Given the description of an element on the screen output the (x, y) to click on. 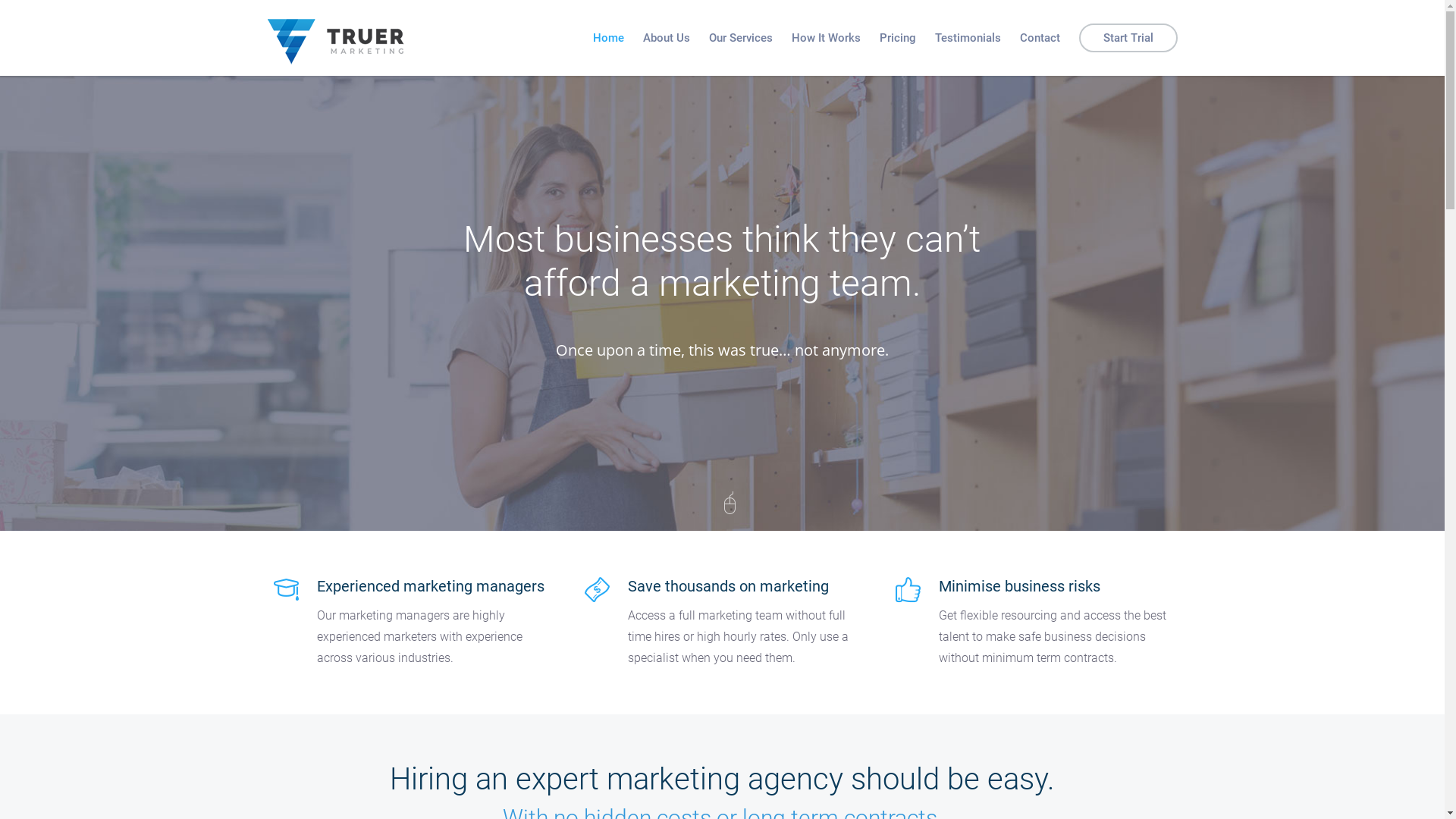
Testimonials Element type: text (967, 37)
How It Works Element type: text (825, 37)
About Us Element type: text (666, 37)
Home Element type: text (608, 37)
Pricing Element type: text (897, 37)
Our Services Element type: text (739, 37)
Contact Element type: text (1039, 37)
Start Trial Element type: text (1127, 37)
